Given the description of an element on the screen output the (x, y) to click on. 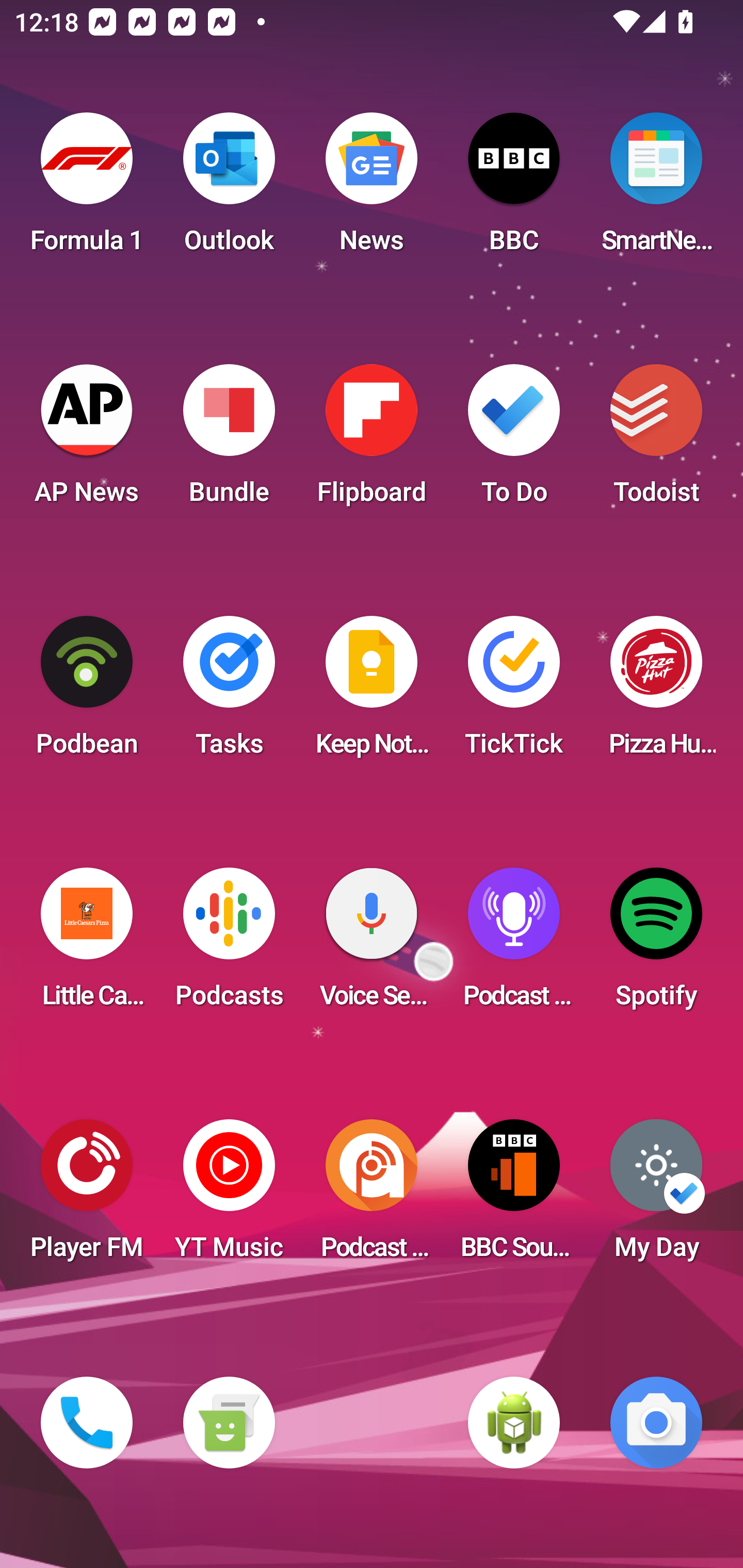
Formula 1 (86, 188)
Outlook (228, 188)
News (371, 188)
BBC (513, 188)
SmartNews (656, 188)
AP News (86, 440)
Bundle (228, 440)
Flipboard (371, 440)
To Do (513, 440)
Todoist (656, 440)
Podbean (86, 692)
Tasks (228, 692)
Keep Notes (371, 692)
TickTick (513, 692)
Pizza Hut HK & Macau (656, 692)
Little Caesars Pizza (86, 943)
Podcasts (228, 943)
Voice Search (371, 943)
Podcast Player (513, 943)
Spotify (656, 943)
Player FM (86, 1195)
YT Music (228, 1195)
Podcast Addict (371, 1195)
BBC Sounds (513, 1195)
My Day (656, 1195)
Phone (86, 1422)
Messaging (228, 1422)
WebView Browser Tester (513, 1422)
Camera (656, 1422)
